Given the description of an element on the screen output the (x, y) to click on. 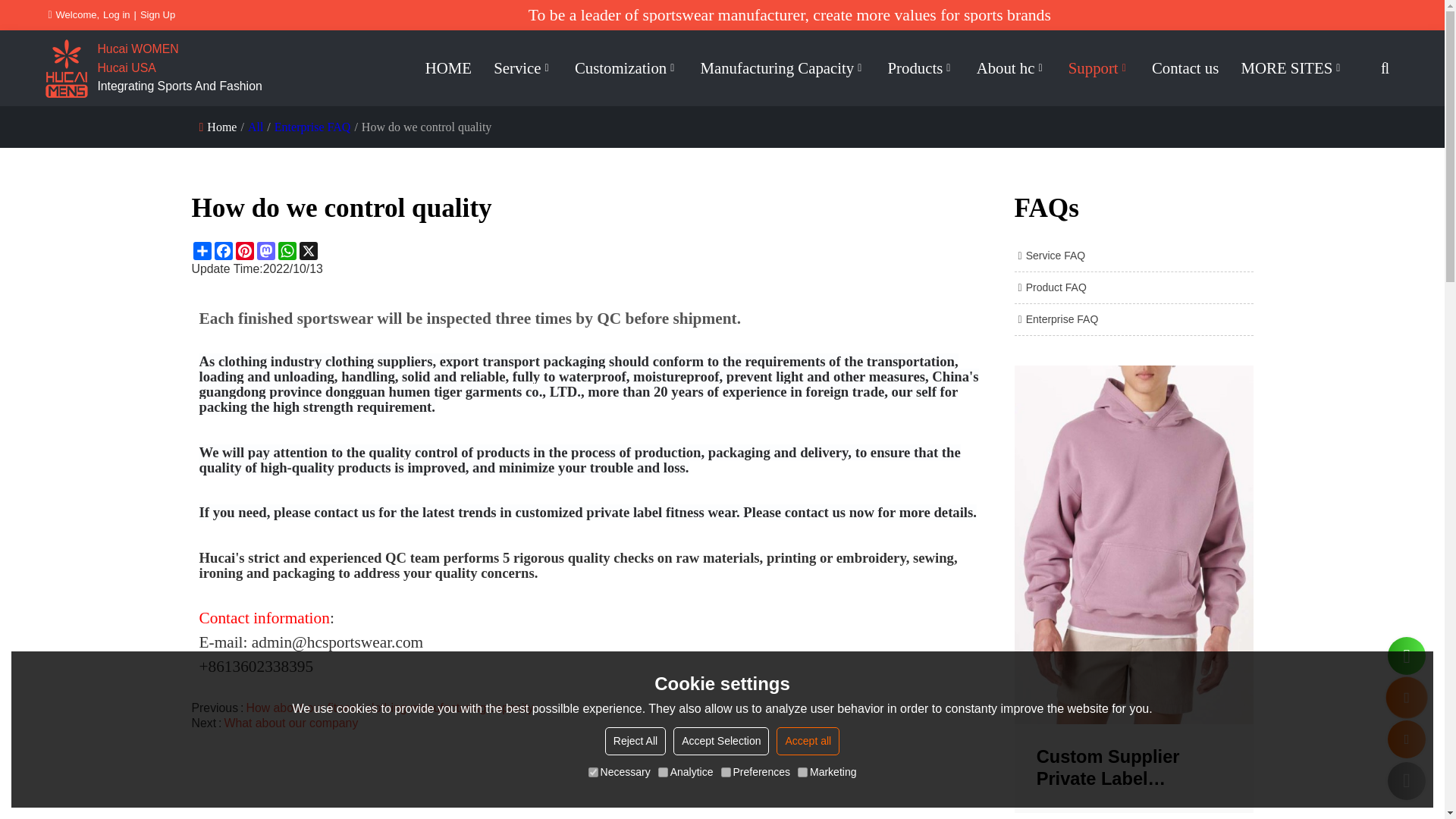
Manufacturing Capacity (783, 68)
Sign Up (156, 14)
HOME (448, 68)
Products (921, 68)
Support (1098, 68)
Hucai WOMEN  (179, 49)
on (663, 772)
Customization (626, 68)
Manufacturing Capacity (783, 68)
on (593, 772)
About hc (1011, 68)
HOME (448, 68)
on (725, 772)
